Given the description of an element on the screen output the (x, y) to click on. 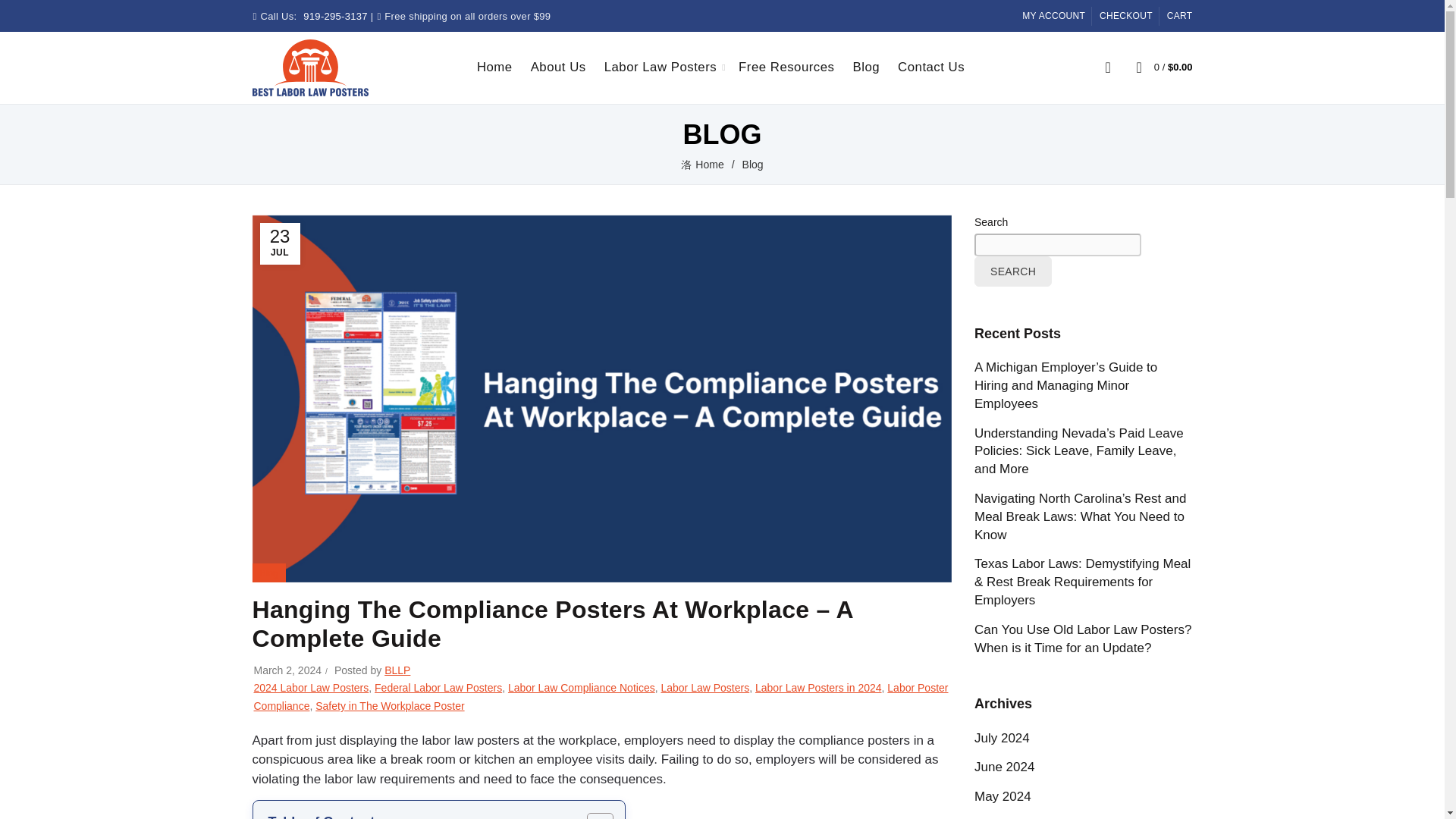
2024 Labor Law Posters (310, 687)
Blog (866, 67)
Labor Poster Compliance (600, 696)
About Us (558, 67)
Free Resources (786, 67)
call to 919-295-3137 on mobile phone (335, 16)
Safety in The Workplace Poster (389, 705)
Labor Law Posters in 2024 (818, 687)
CHECKOUT (1126, 15)
Federal Labor Law Posters (438, 687)
MY ACCOUNT (1053, 15)
Home (494, 67)
Contact Us (931, 67)
Labor Law Posters (660, 67)
BLLP (397, 670)
